Given the description of an element on the screen output the (x, y) to click on. 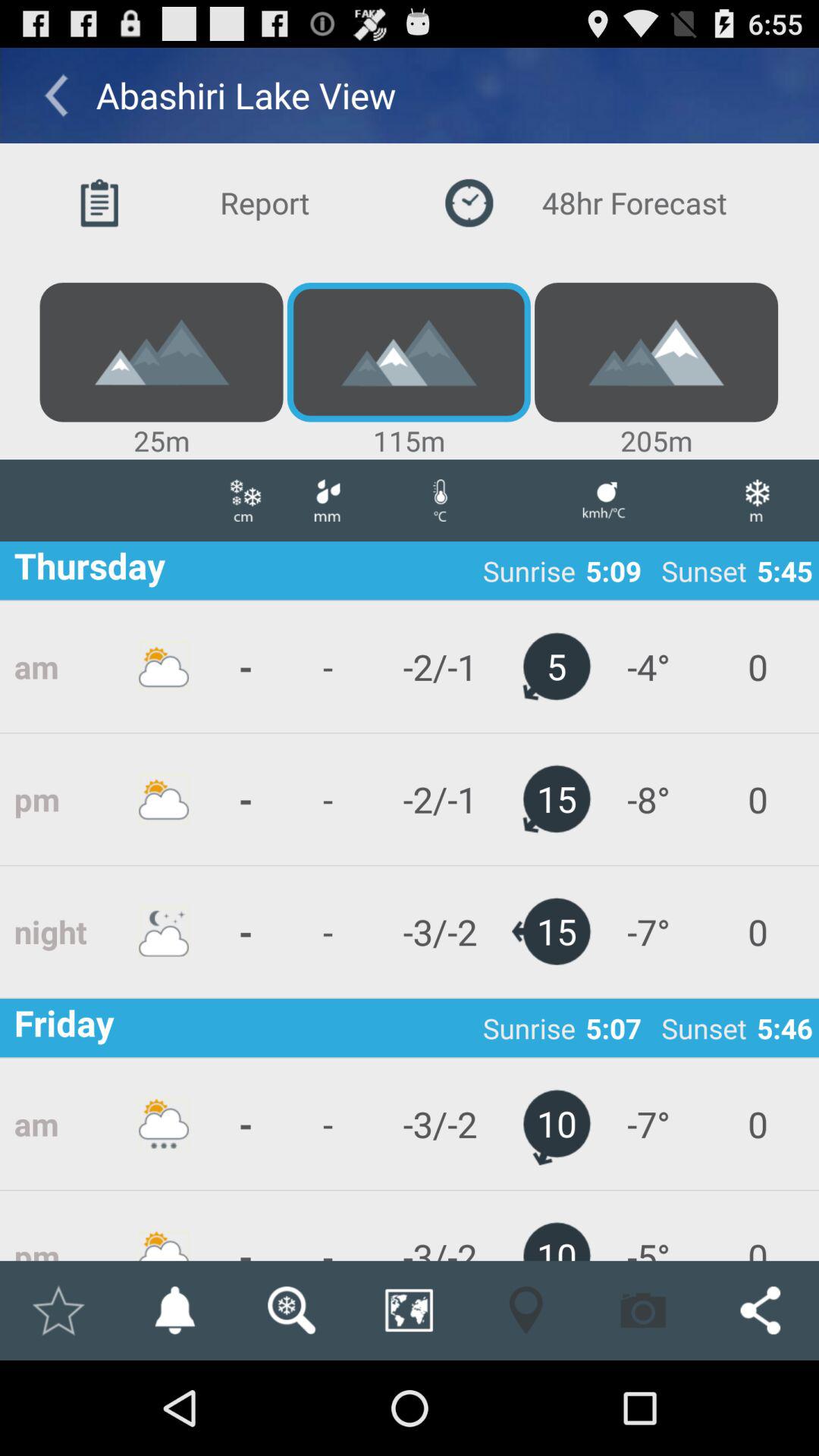
activate notification icon (174, 1310)
